Given the description of an element on the screen output the (x, y) to click on. 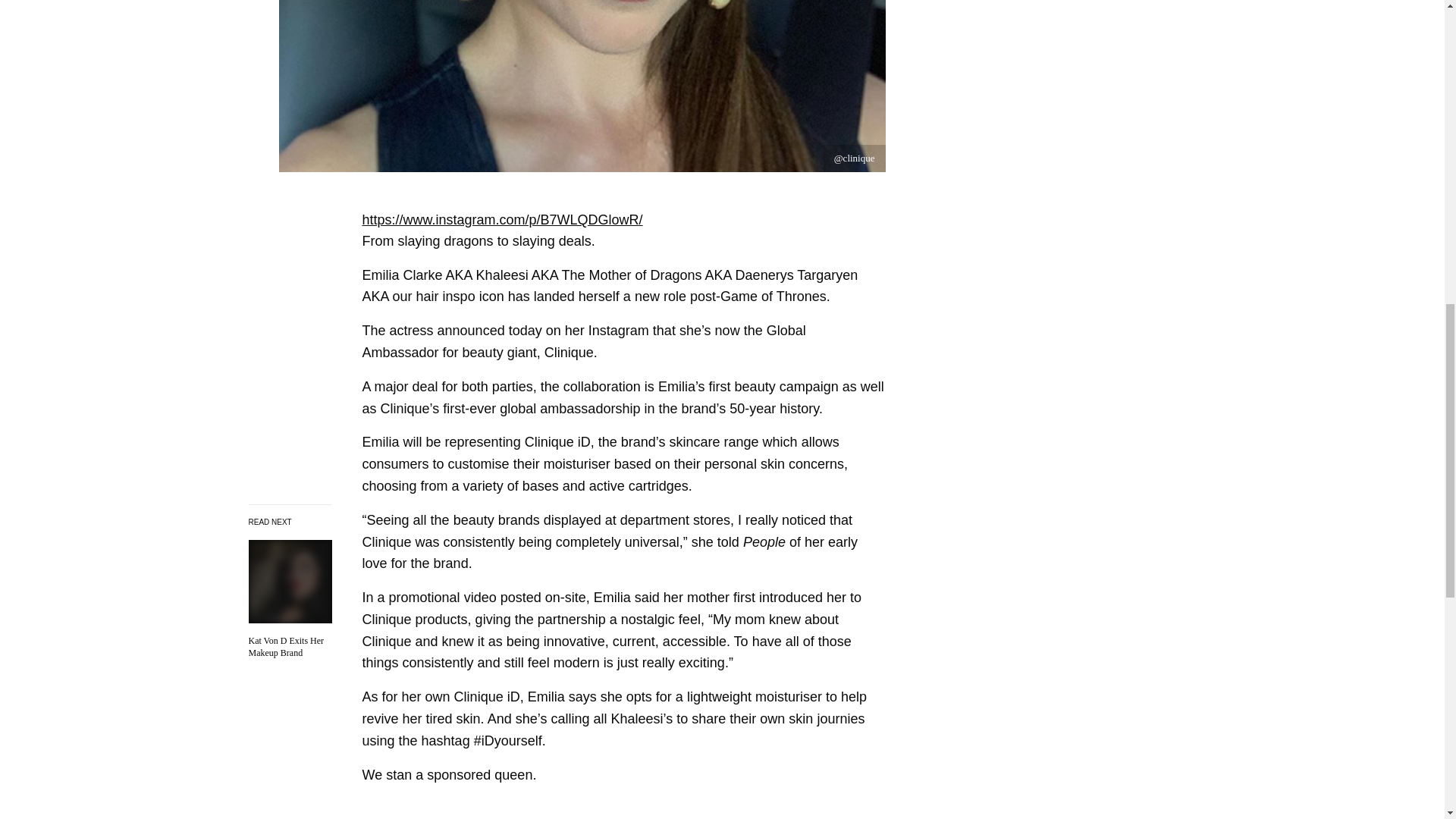
Kat Von D Exits Her Makeup Brand (289, 647)
Emilia Clarke Is The New Face Of This Major Beauty Brand (289, 647)
